Given the description of an element on the screen output the (x, y) to click on. 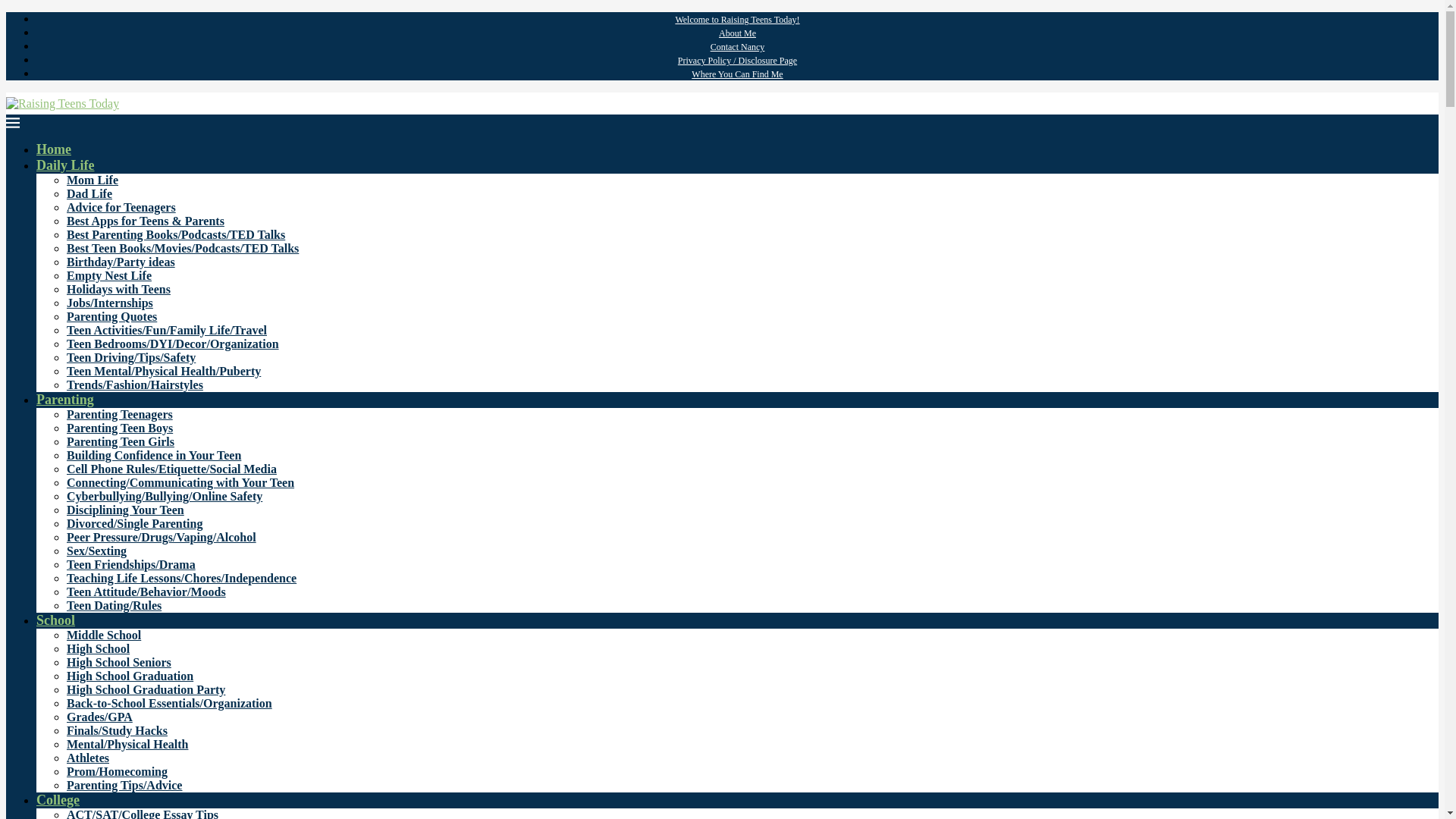
Welcome to Raising Teens Today! (737, 19)
Disciplining Your Teen (125, 509)
Parenting Teen Boys (119, 427)
Daily Life (65, 165)
Where You Can Find Me (737, 73)
Home (53, 149)
Contact Nancy (737, 46)
About Me (737, 32)
Dad Life (89, 193)
Parenting Teenagers (119, 413)
